Given the description of an element on the screen output the (x, y) to click on. 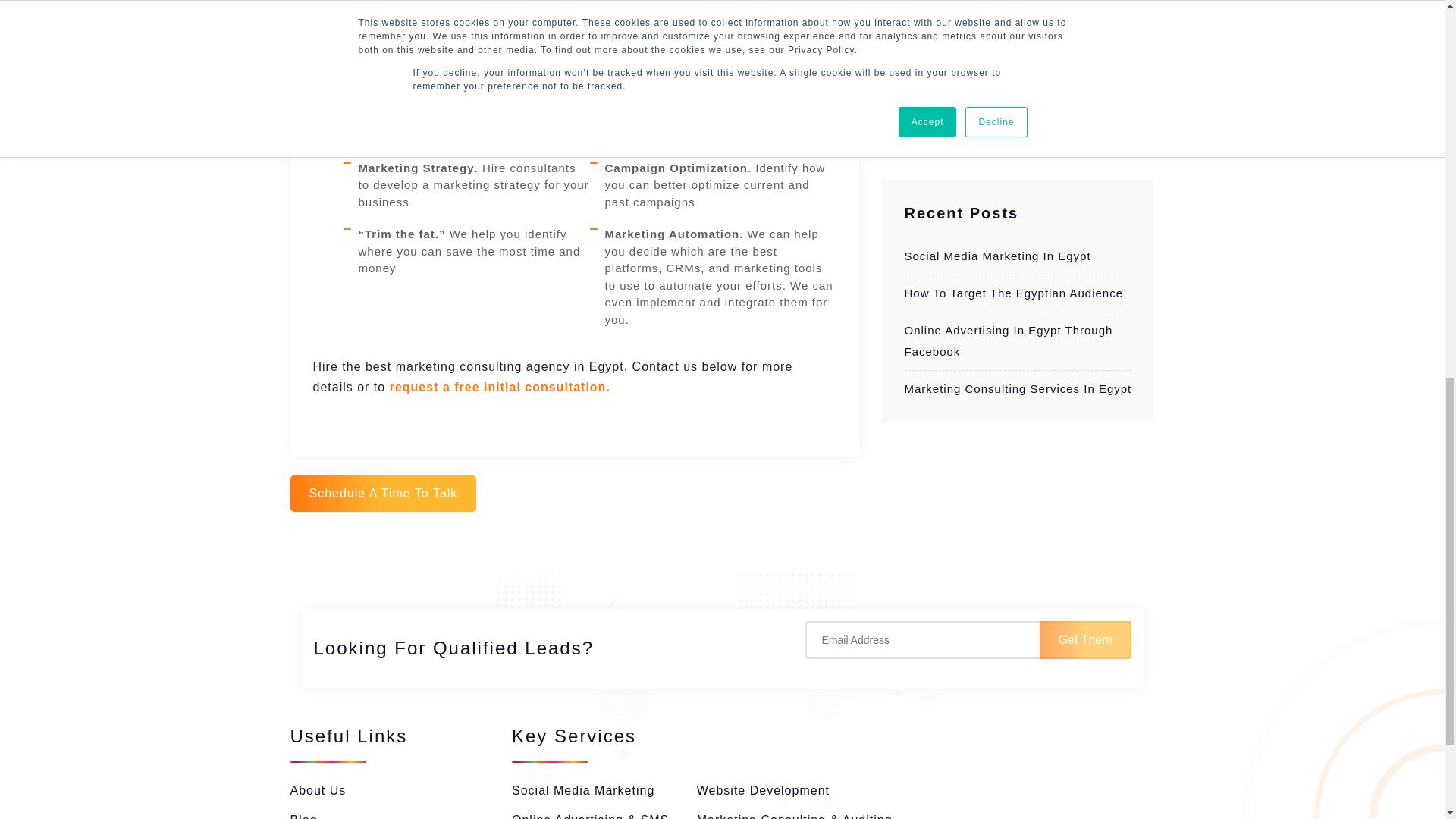
About Us (317, 790)
request a free initial consultation. (500, 386)
Submit (935, 93)
Schedule A Time To Talk (382, 493)
Social Media Marketing (582, 790)
Get Them (1085, 639)
How To Target The Egyptian Audience (1013, 292)
Blog (303, 815)
Online Advertising In Egypt Through Facebook (1008, 339)
Get Them (1085, 639)
Social Media Marketing In Egypt (997, 254)
Website Development (763, 790)
Marketing Consulting Services In Egypt (1017, 388)
